Given the description of an element on the screen output the (x, y) to click on. 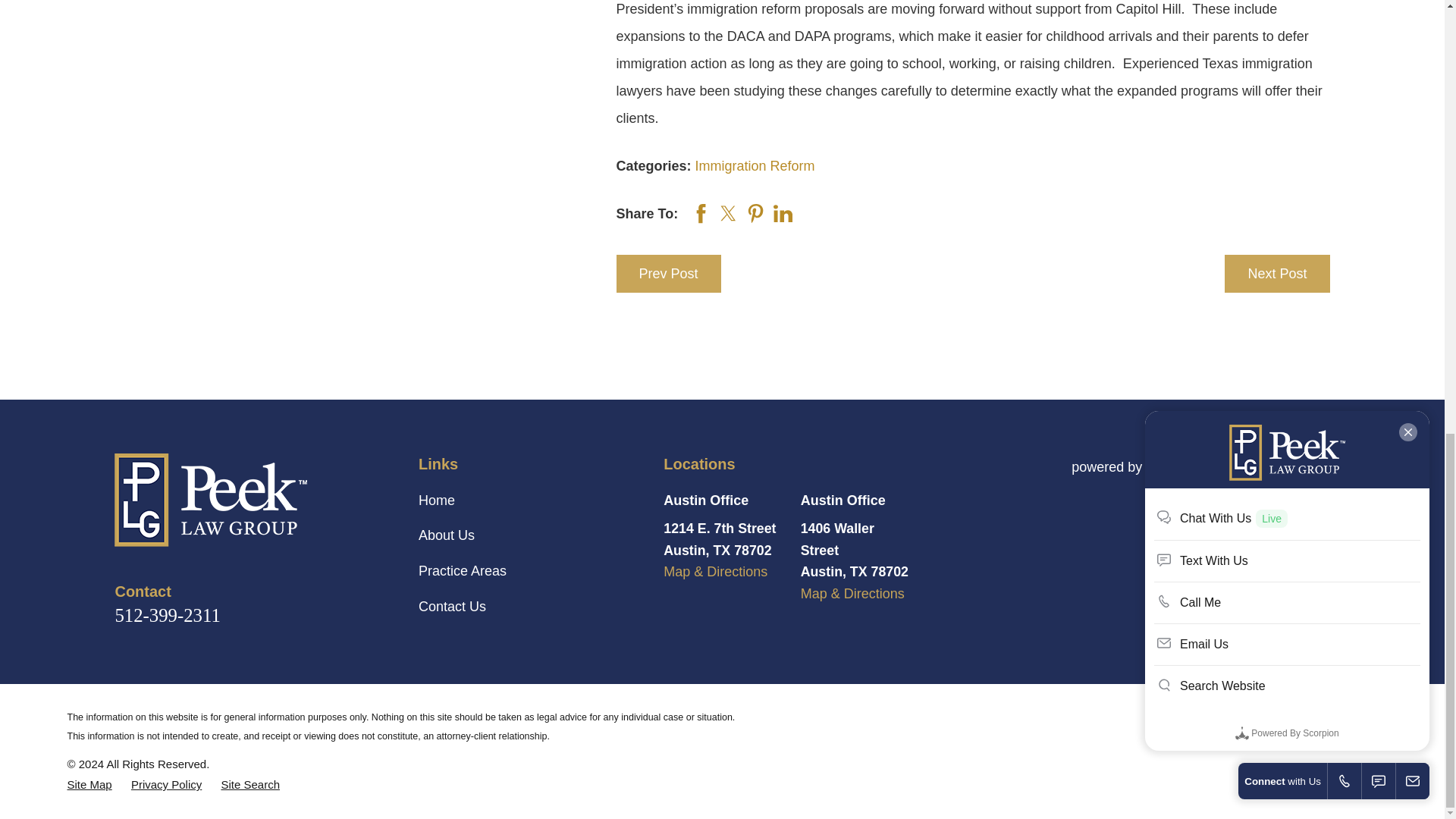
Peek Law Group (211, 500)
Home (249, 500)
